Given the description of an element on the screen output the (x, y) to click on. 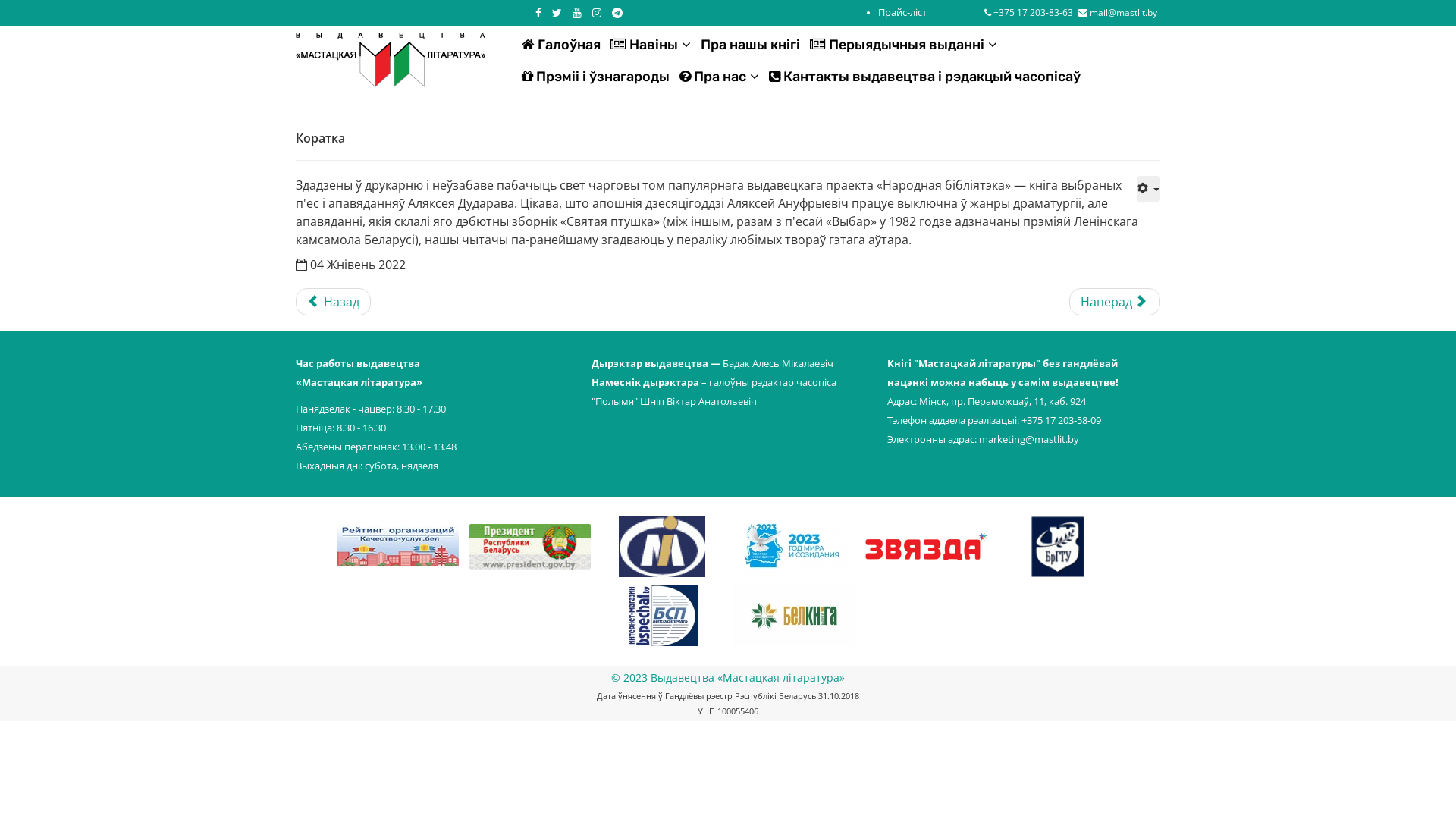
mail@mastlit.by Element type: text (1122, 12)
+375 17 203-83-63 Element type: text (1033, 12)
marketing@mastlit.by Element type: text (1029, 438)
